Given the description of an element on the screen output the (x, y) to click on. 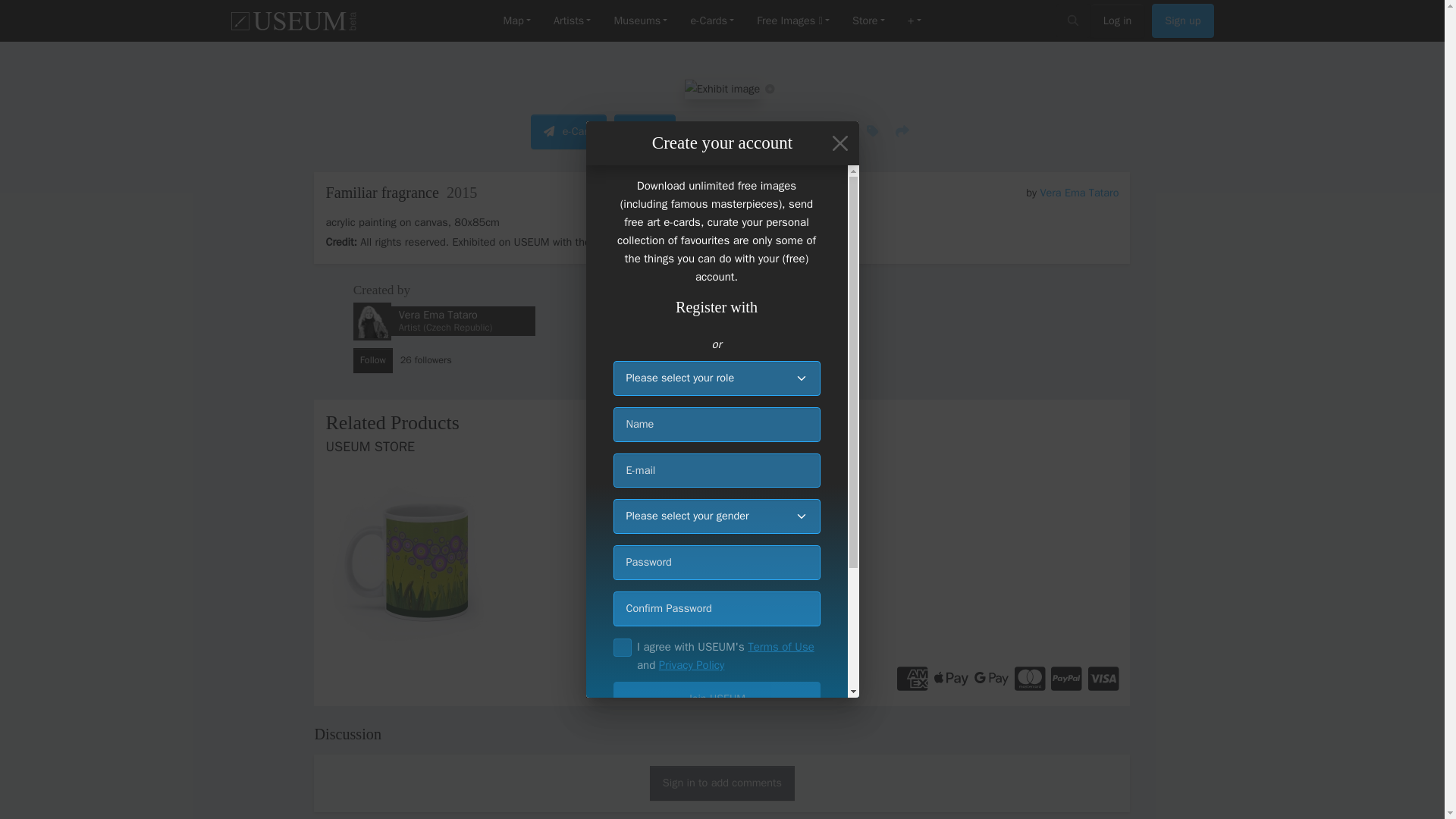
Map (516, 20)
on (621, 647)
Products for Familiar fragrance from USEUM (721, 480)
Products for Familiar fragrance from USEUM (451, 561)
